Given the description of an element on the screen output the (x, y) to click on. 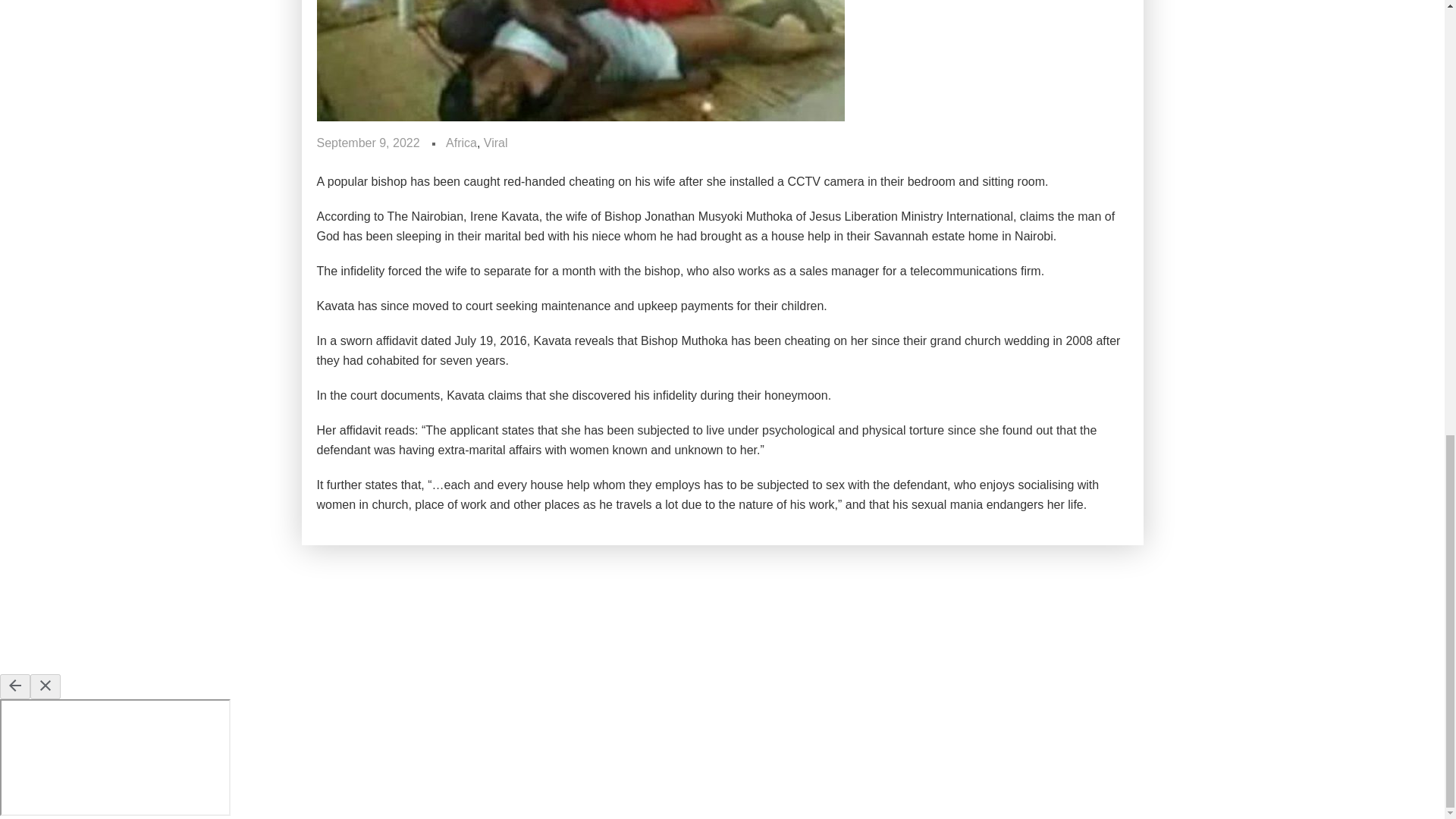
Africa (461, 143)
Viral (495, 143)
September 9, 2022 (368, 143)
